Given the description of an element on the screen output the (x, y) to click on. 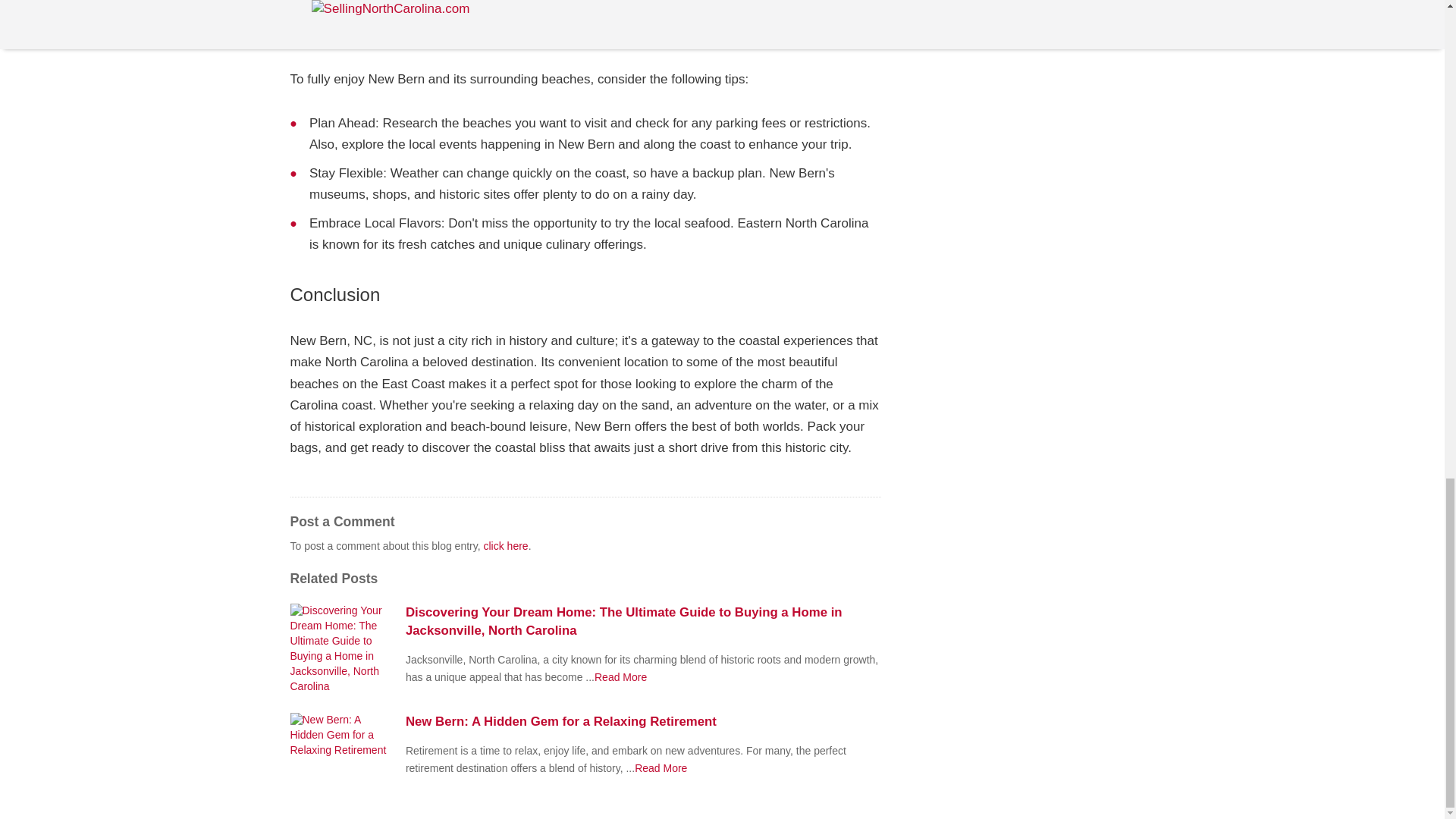
Discovering New Bern, NC: A Gateway to Coastal Bliss (620, 676)
New Bern: A Hidden Gem for a Relaxing Retirement (643, 721)
Discovering New Bern, NC: A Gateway to Coastal Bliss (660, 767)
